Given the description of an element on the screen output the (x, y) to click on. 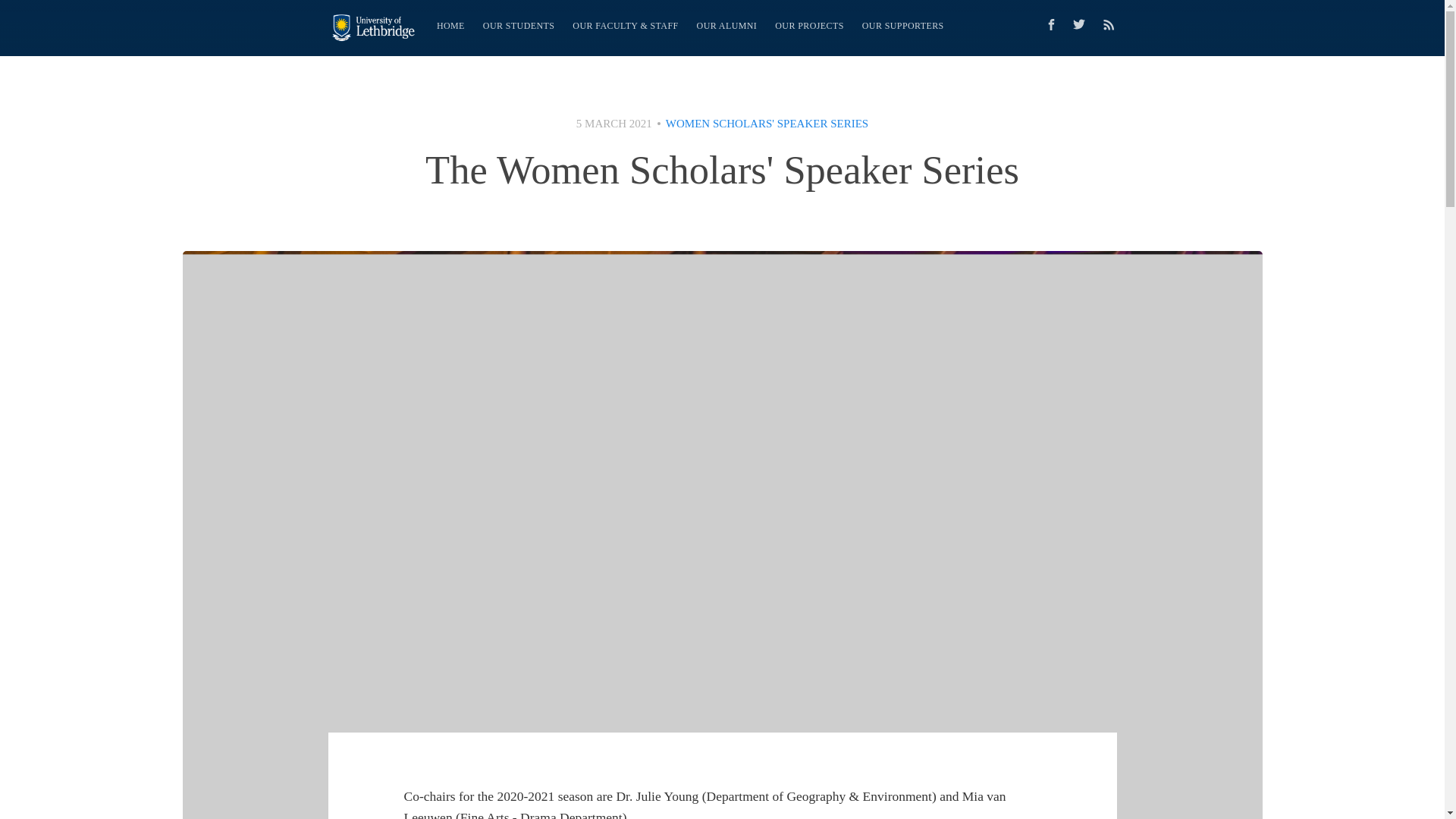
HOME (451, 25)
OUR STUDENTS (518, 25)
OUR PROJECTS (809, 25)
WOMEN SCHOLARS' SPEAKER SERIES (766, 123)
OUR SUPPORTERS (903, 25)
Twitter (1082, 23)
OUR ALUMNI (727, 25)
Facebook (1050, 23)
